Given the description of an element on the screen output the (x, y) to click on. 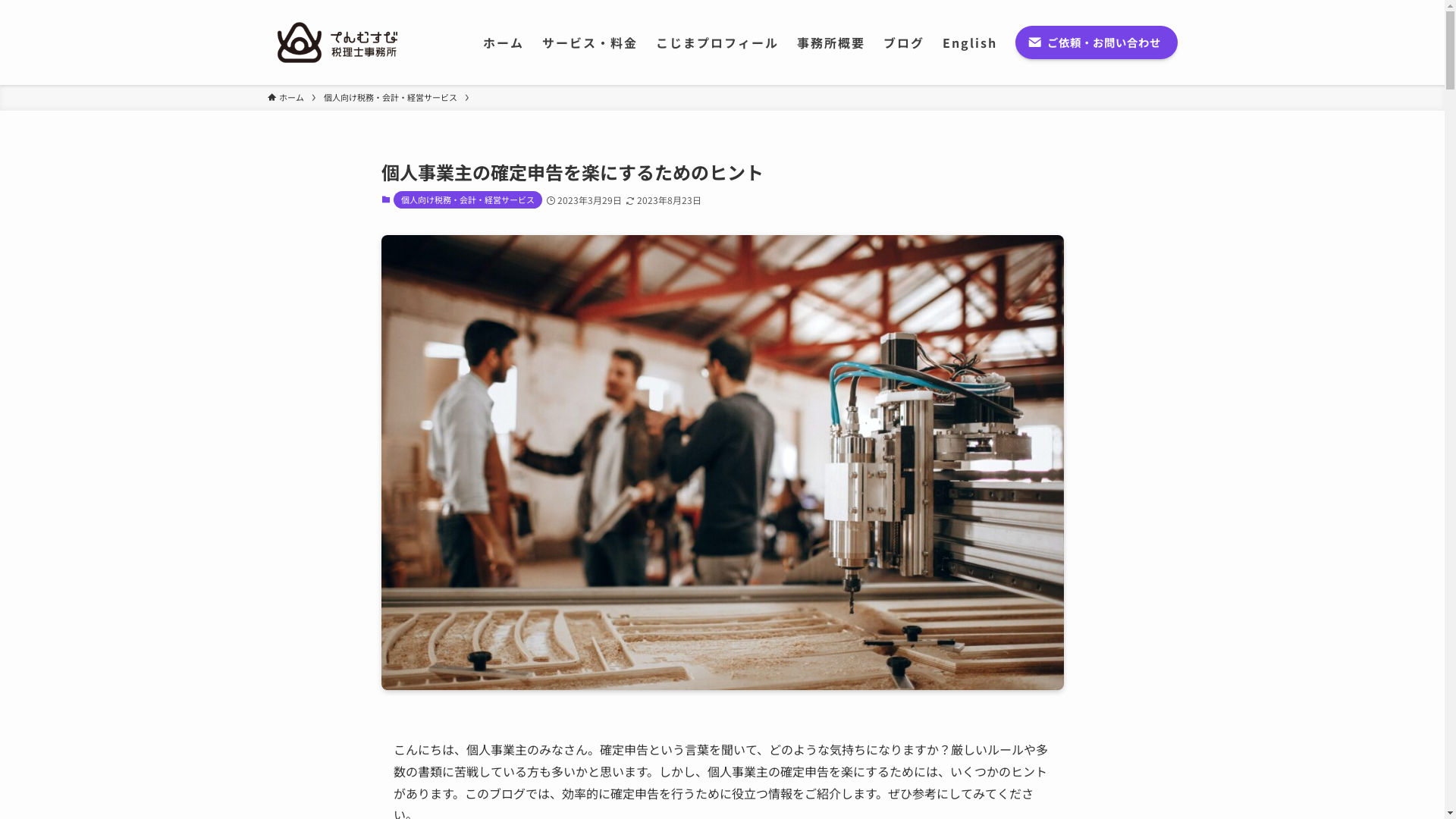
search Element type: text (921, 421)
English Element type: text (969, 42)
business-person Element type: hover (721, 462)
